Given the description of an element on the screen output the (x, y) to click on. 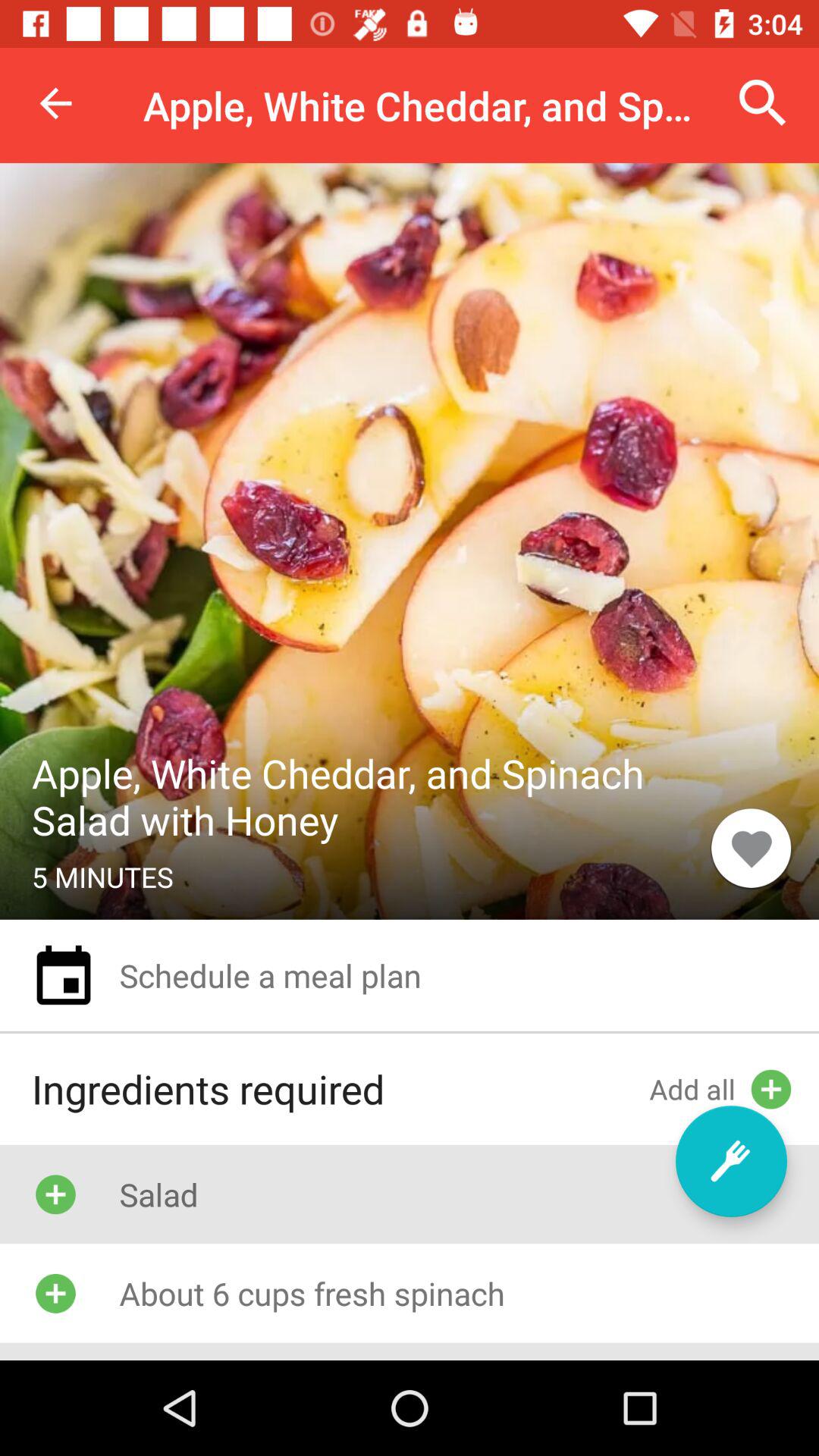
select item at the top right corner (763, 103)
